Given the description of an element on the screen output the (x, y) to click on. 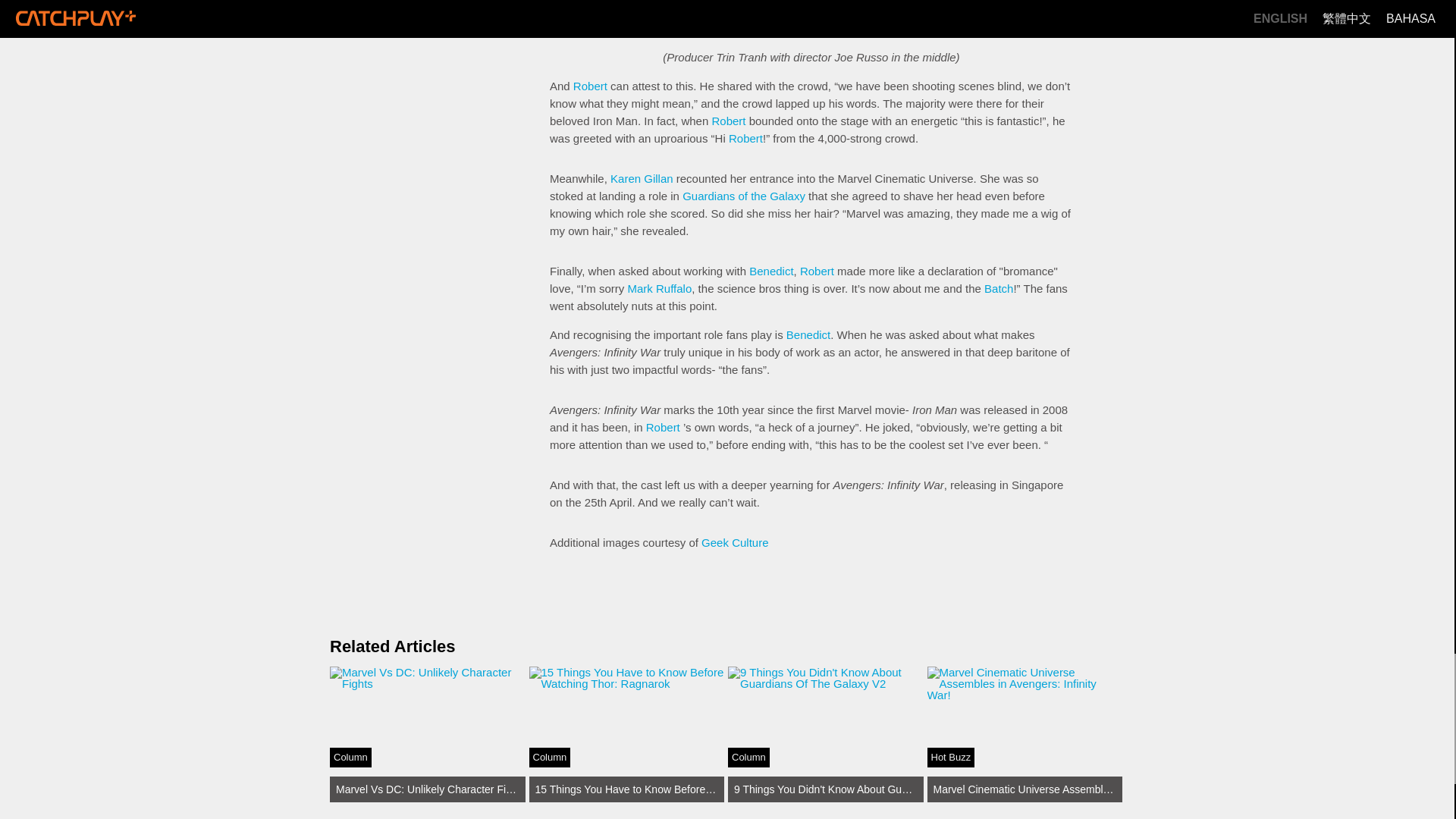
Benedict (807, 334)
Russo (755, 2)
Geek Culture (734, 542)
Robert (728, 120)
Robert (816, 270)
Tom Holland (678, 16)
Karen Gillan (641, 178)
Batch (998, 287)
Robert (590, 85)
Robert (745, 137)
Robert (427, 734)
